Given the description of an element on the screen output the (x, y) to click on. 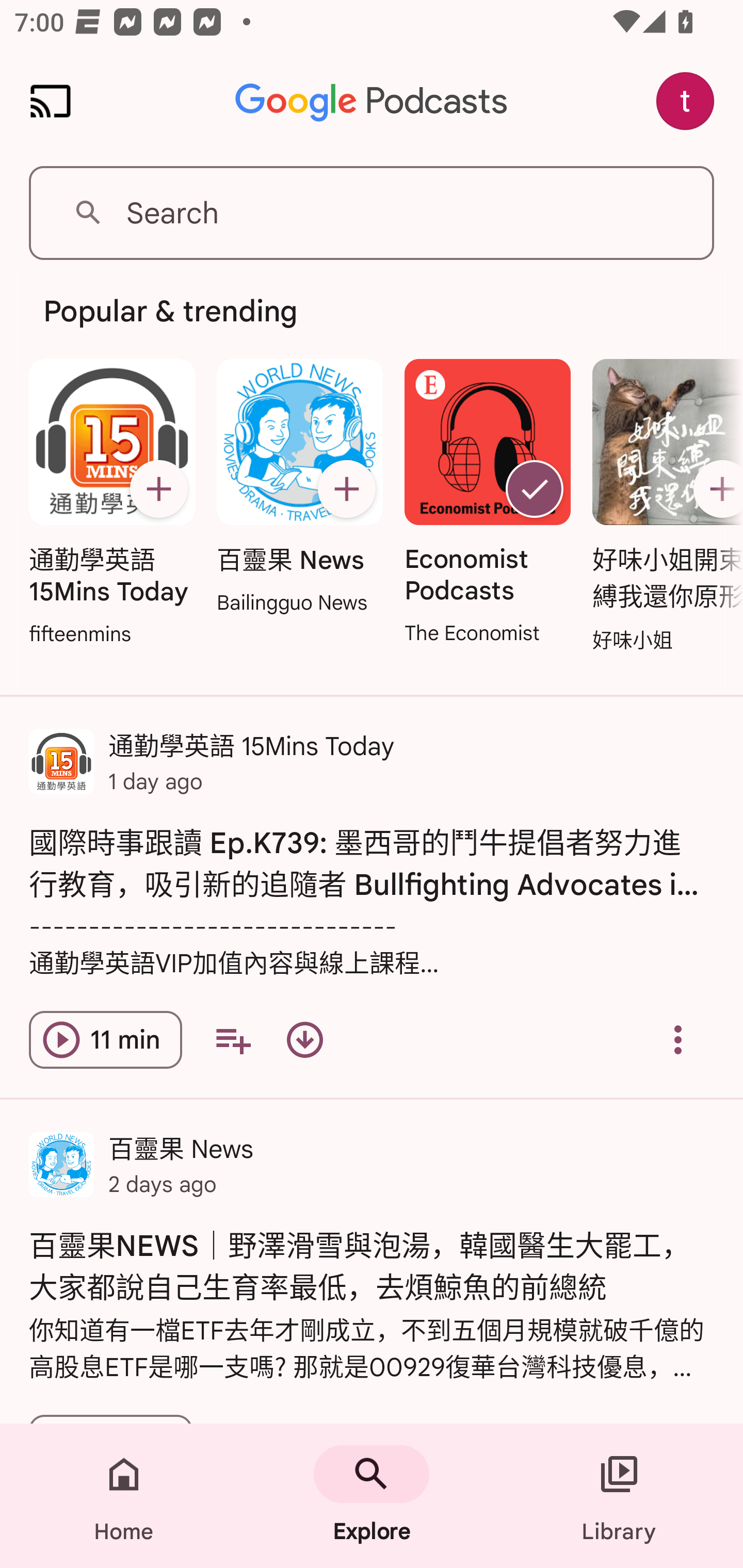
Cast. Disconnected (50, 101)
Search (371, 212)
百靈果 News Subscribe 百靈果 News Bailingguo News (299, 488)
好味小姐開束縛我還你原形 Subscribe 好味小姐開束縛我還你原形 好味小姐 (662, 507)
Subscribe (158, 489)
Subscribe (346, 489)
Unsubscribe (534, 489)
Subscribe (714, 489)
Add to your queue (232, 1040)
Download episode (304, 1040)
Overflow menu (677, 1040)
Home (123, 1495)
Library (619, 1495)
